Given the description of an element on the screen output the (x, y) to click on. 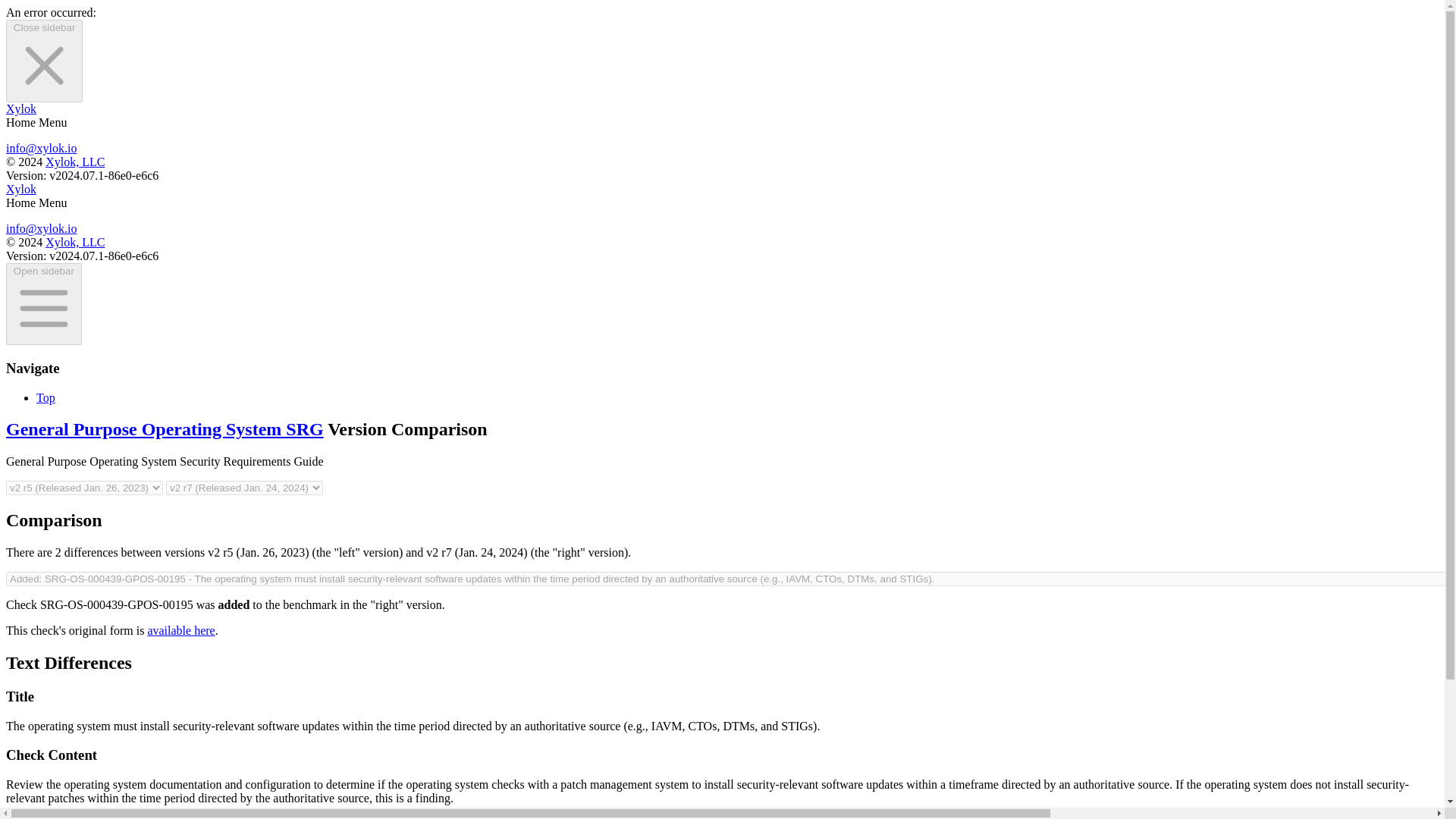
Xylok (20, 108)
Xylok, LLC (74, 161)
available here (180, 630)
Home Menu (35, 122)
General Purpose Operating System SRG (164, 428)
Open sidebar (43, 303)
Xylok (20, 188)
Top (45, 397)
Xylok, LLC (74, 241)
Home Menu (35, 202)
Close sidebar (43, 60)
